Given the description of an element on the screen output the (x, y) to click on. 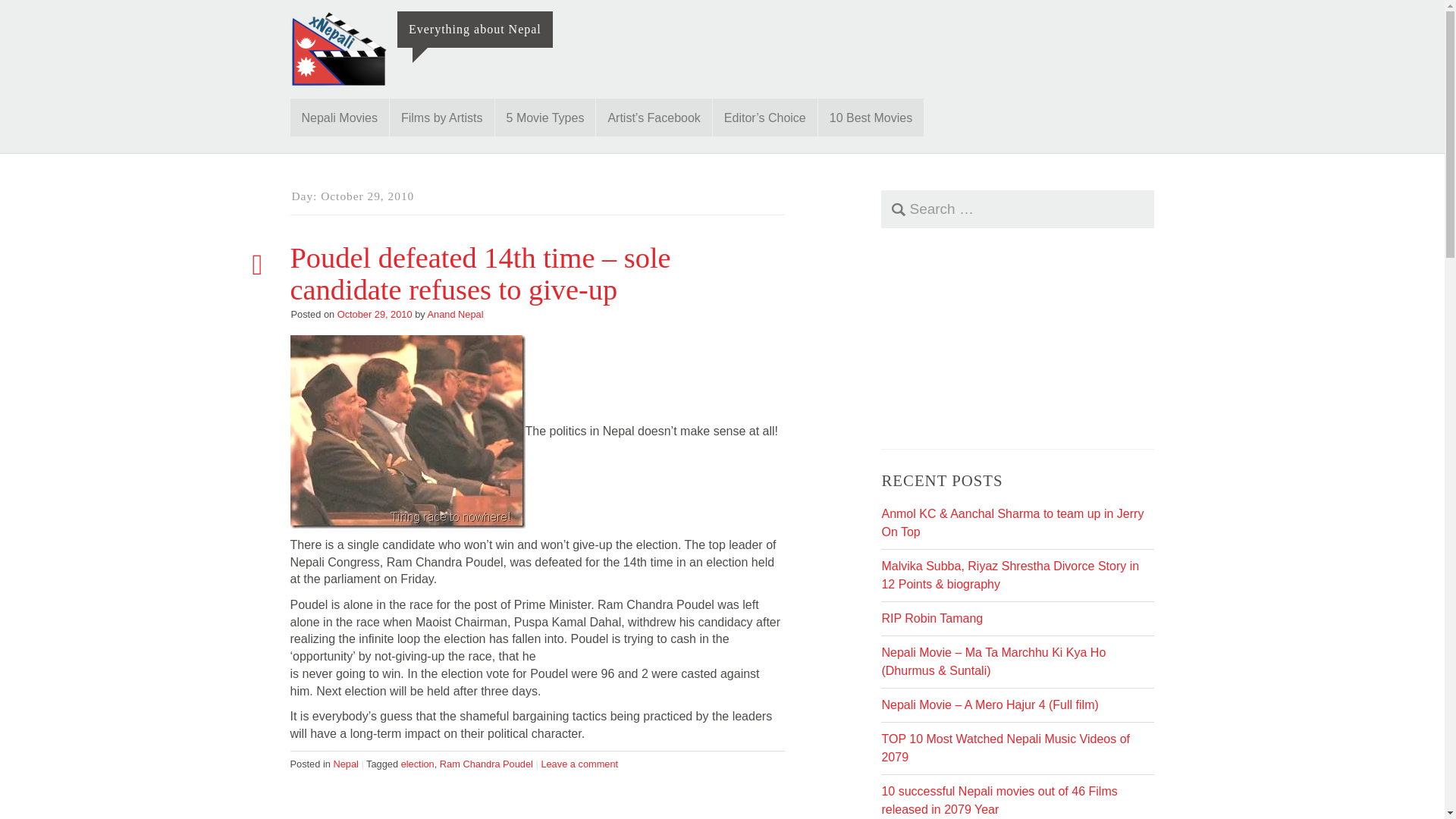
ramchandra-poudel (406, 431)
5 Movie Types (545, 117)
RIP Robin Tamang (931, 617)
Anand Nepal (455, 314)
Artist's Facebook (653, 117)
election (417, 763)
Nepali Movies (338, 117)
October 29, 2010 (374, 314)
Nepali Movies (338, 117)
Films by Artists (442, 117)
